Given the description of an element on the screen output the (x, y) to click on. 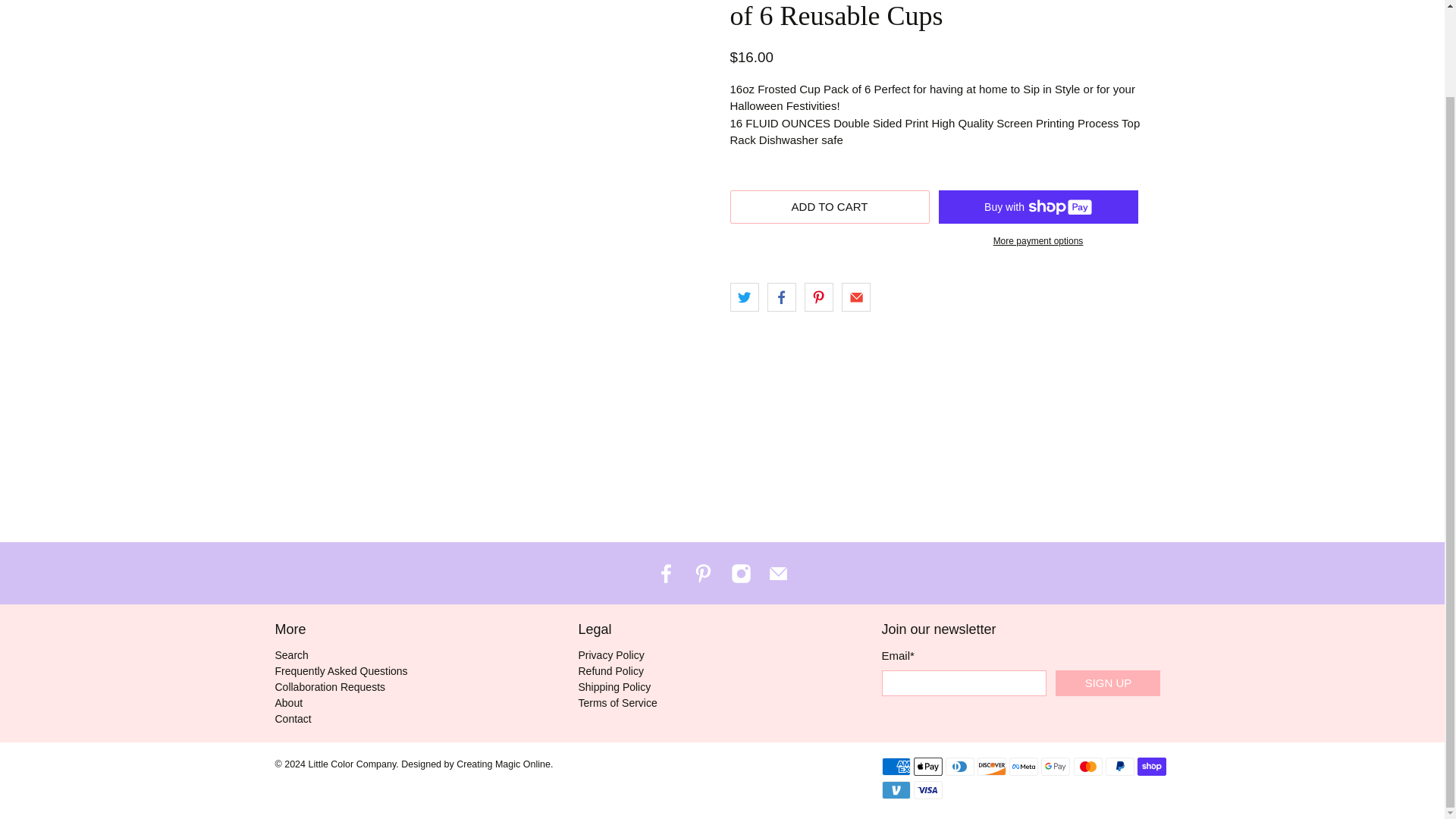
American Express (895, 766)
Email this to a friend (855, 297)
Apple Pay (928, 766)
Diners Club (959, 766)
Discover (991, 766)
Share this on Facebook (781, 297)
Share this on Twitter (743, 297)
Share this on Pinterest (818, 297)
